Given the description of an element on the screen output the (x, y) to click on. 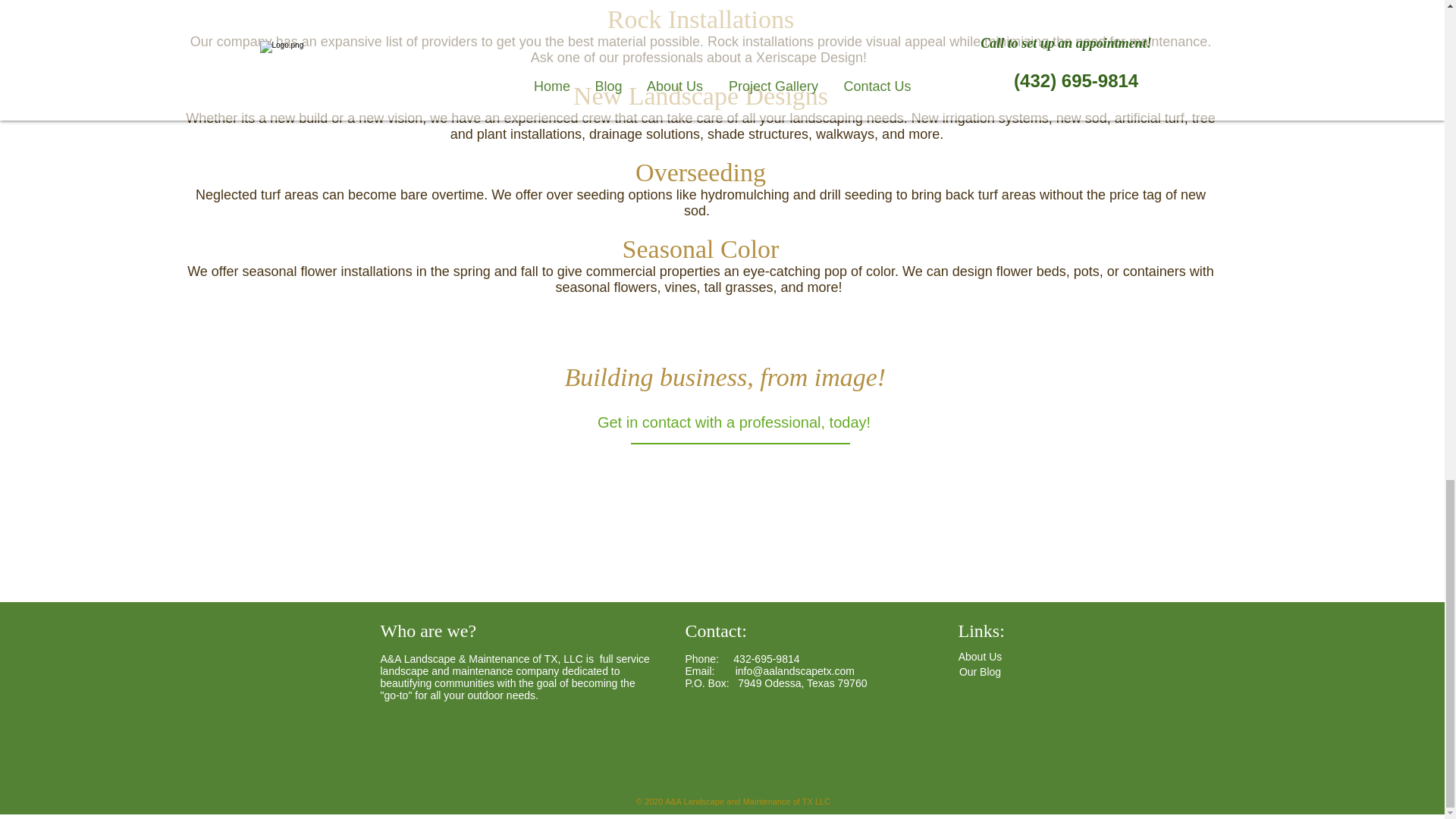
Our Blog (979, 672)
Get in contact with a professional, today! (733, 422)
About Us (979, 656)
